Given the description of an element on the screen output the (x, y) to click on. 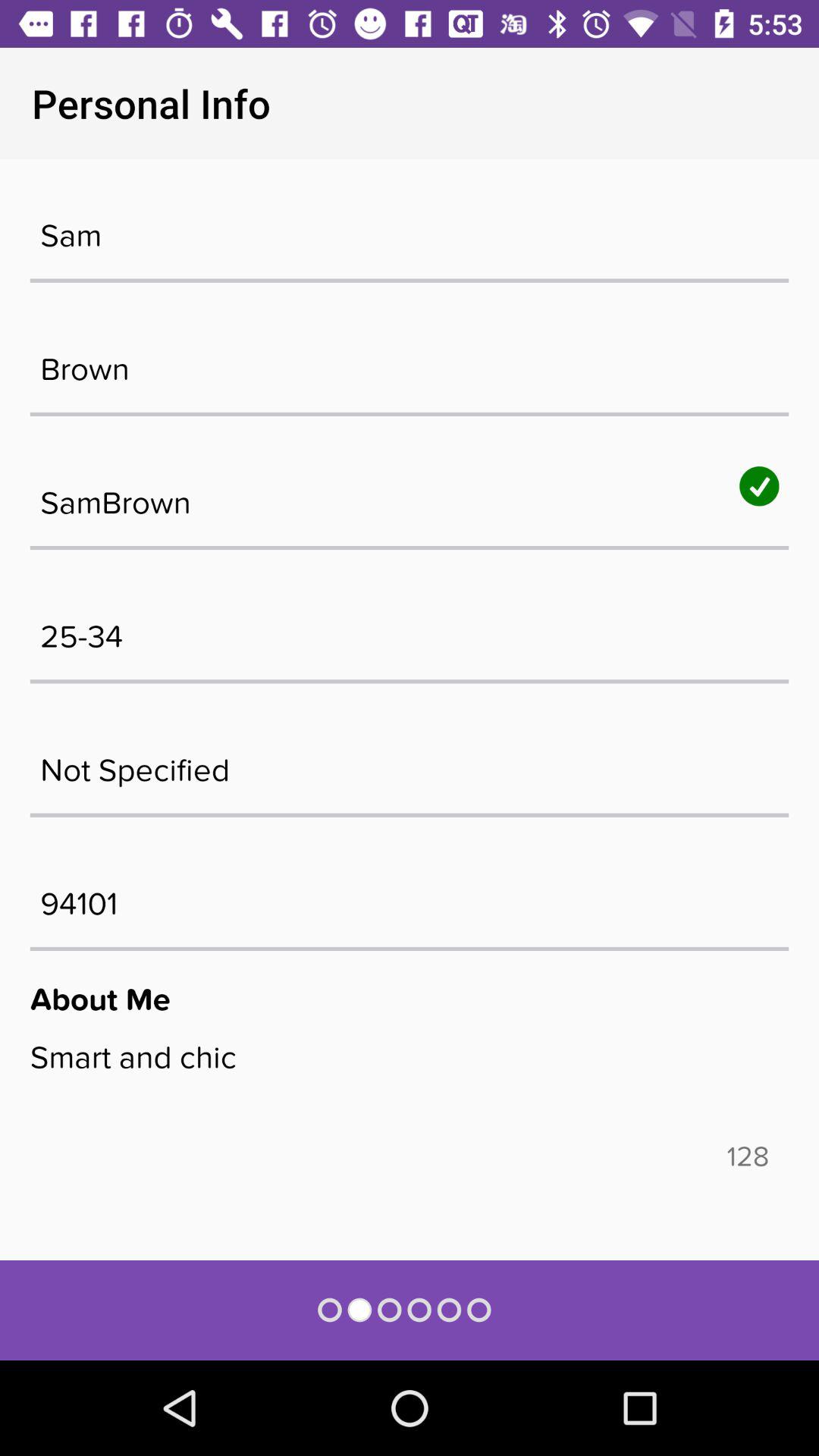
select the item above 128 icon (409, 1089)
